Given the description of an element on the screen output the (x, y) to click on. 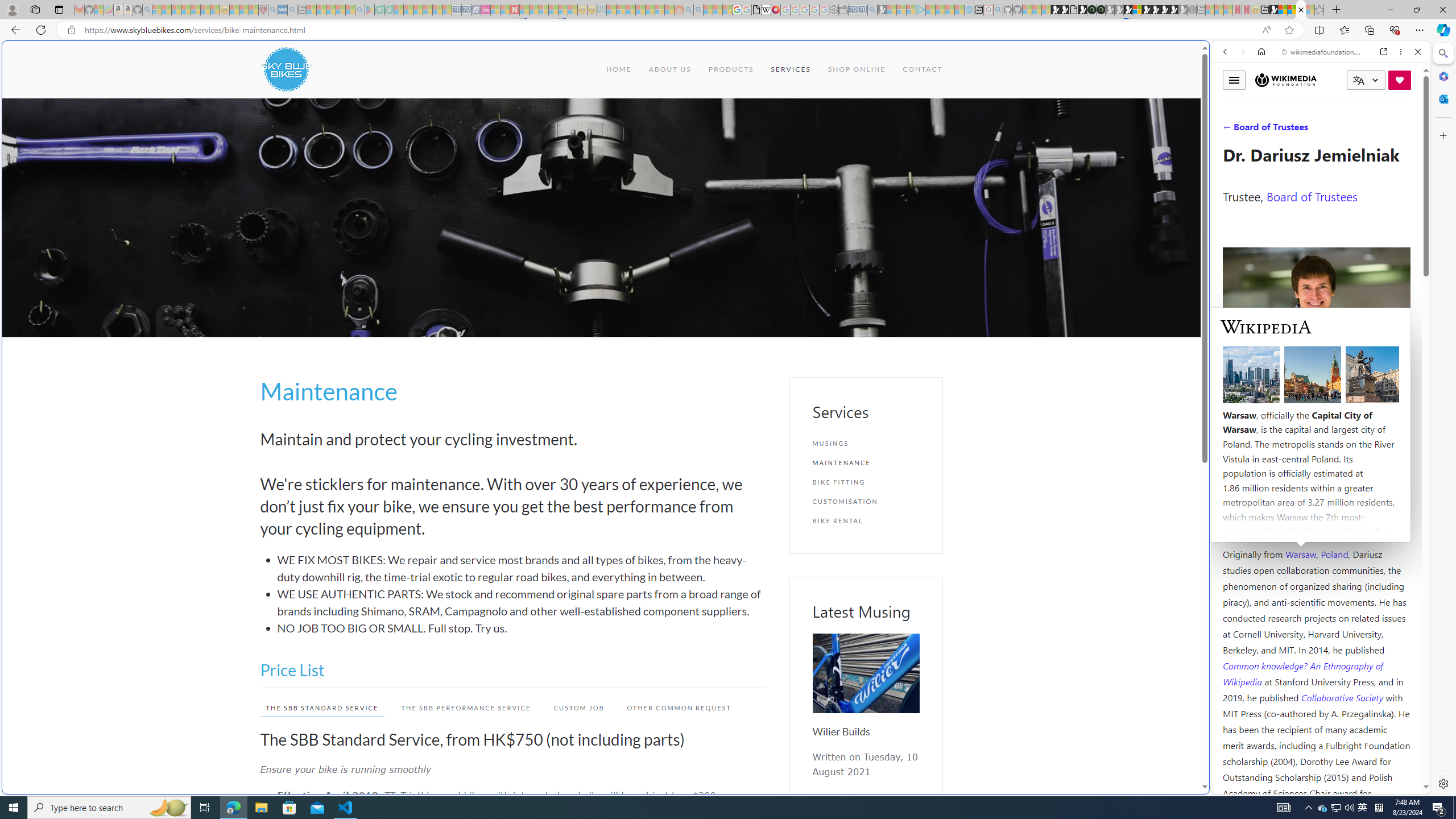
Close Customize pane (1442, 135)
Latest Politics News & Archive | Newsweek.com - Sleeping (514, 9)
Side bar (1443, 418)
Pets - MSN - Sleeping (340, 9)
THE SBB PERFORMANCE SERVICE (465, 707)
Wilier Builds (866, 673)
google_privacy_policy_zh-CN.pdf (755, 9)
ABOUT US (669, 68)
NO JOB TOO BIG OR SMALL. Full stop. Try us. (521, 628)
